Given the description of an element on the screen output the (x, y) to click on. 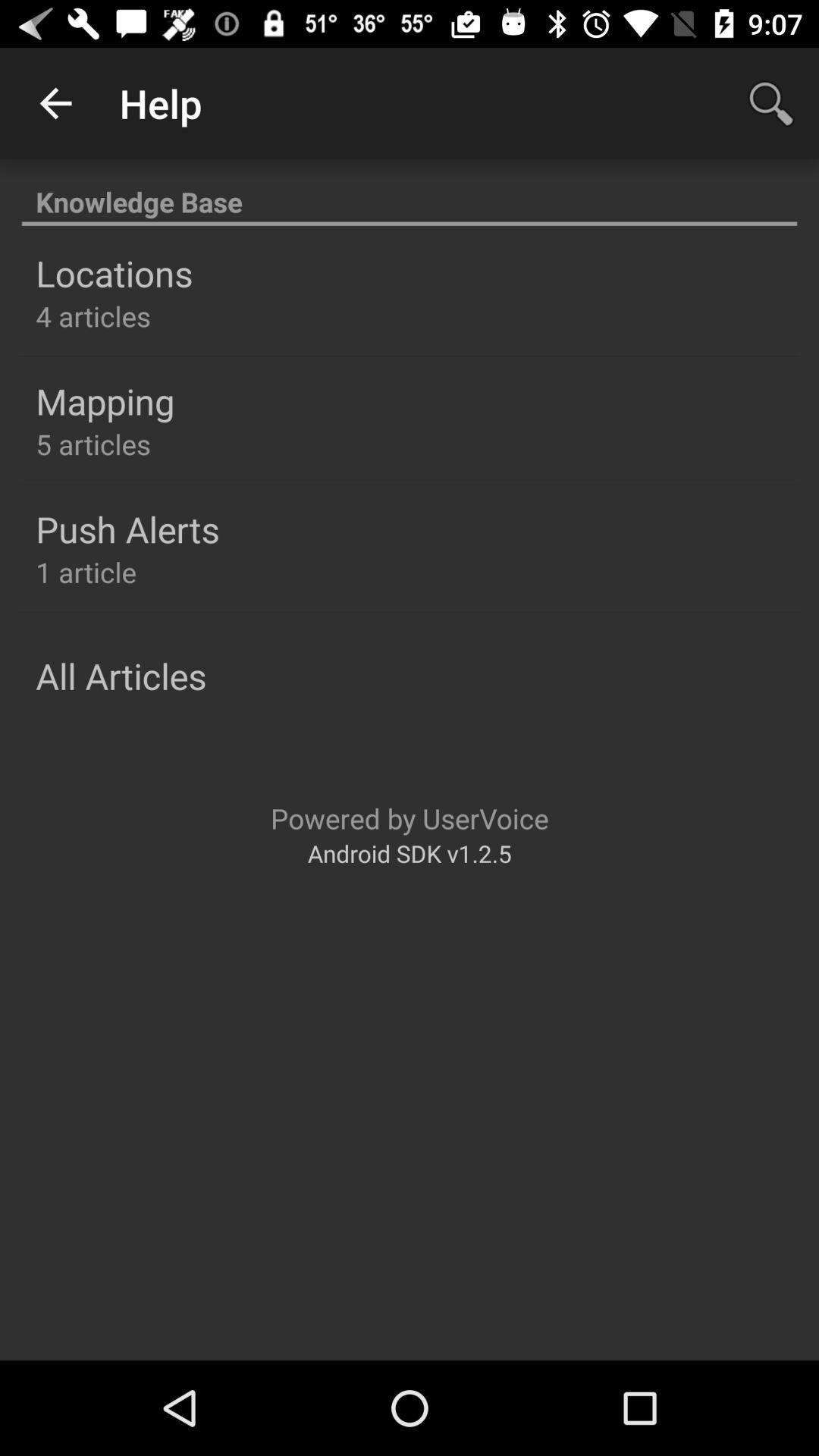
turn on item above the knowledge base (771, 103)
